Given the description of an element on the screen output the (x, y) to click on. 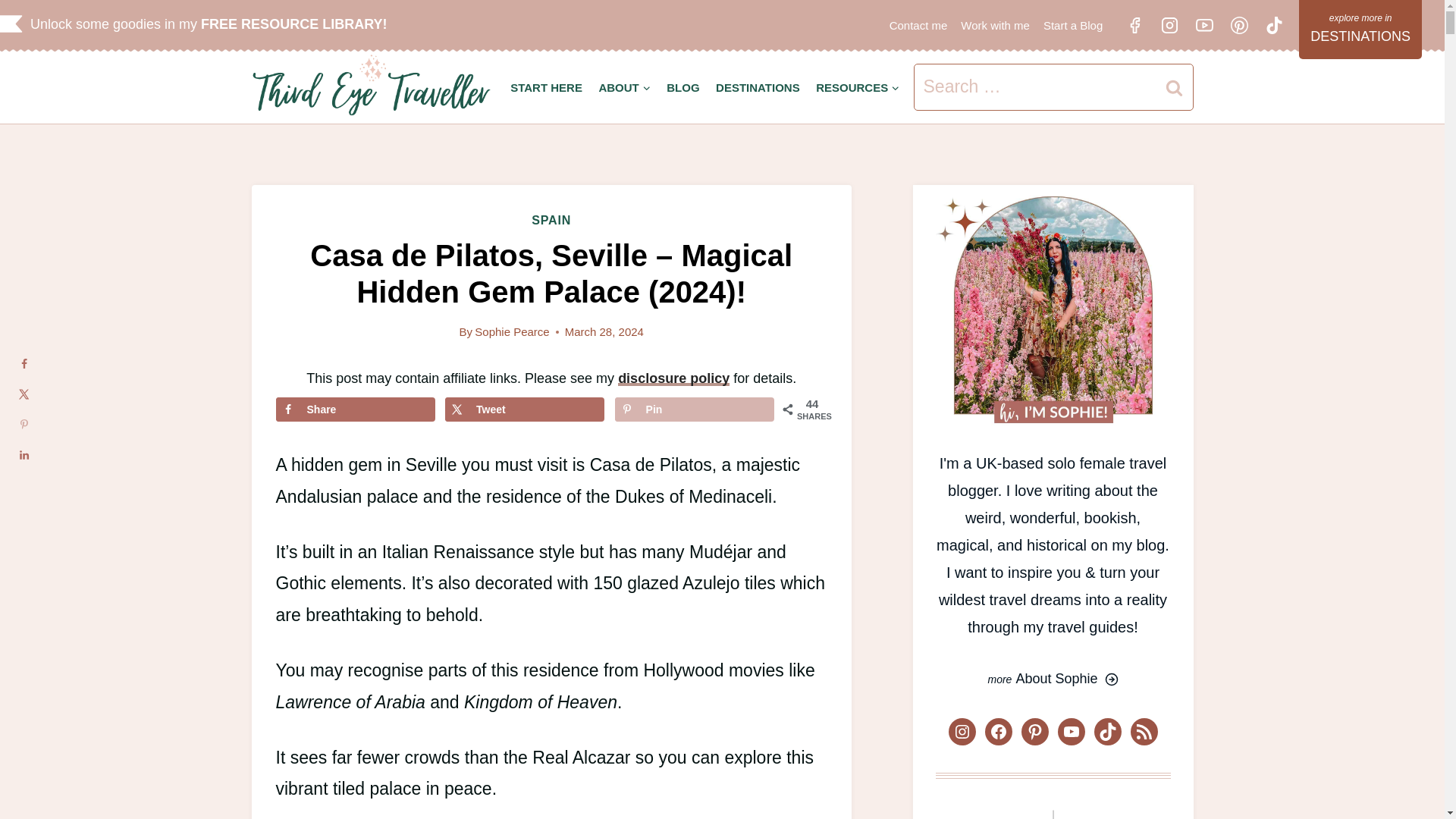
Sophie Pearce (511, 331)
Work with me (994, 25)
disclosure policy (673, 378)
Share on Facebook (355, 409)
Tweet (524, 409)
Start a Blog (1072, 25)
Save to Pinterest (694, 409)
SPAIN (550, 219)
BLOG (682, 87)
Pin (694, 409)
ABOUT (625, 87)
START HERE (545, 87)
DESTINATIONS (757, 87)
Share (355, 409)
Contact me (918, 25)
